Given the description of an element on the screen output the (x, y) to click on. 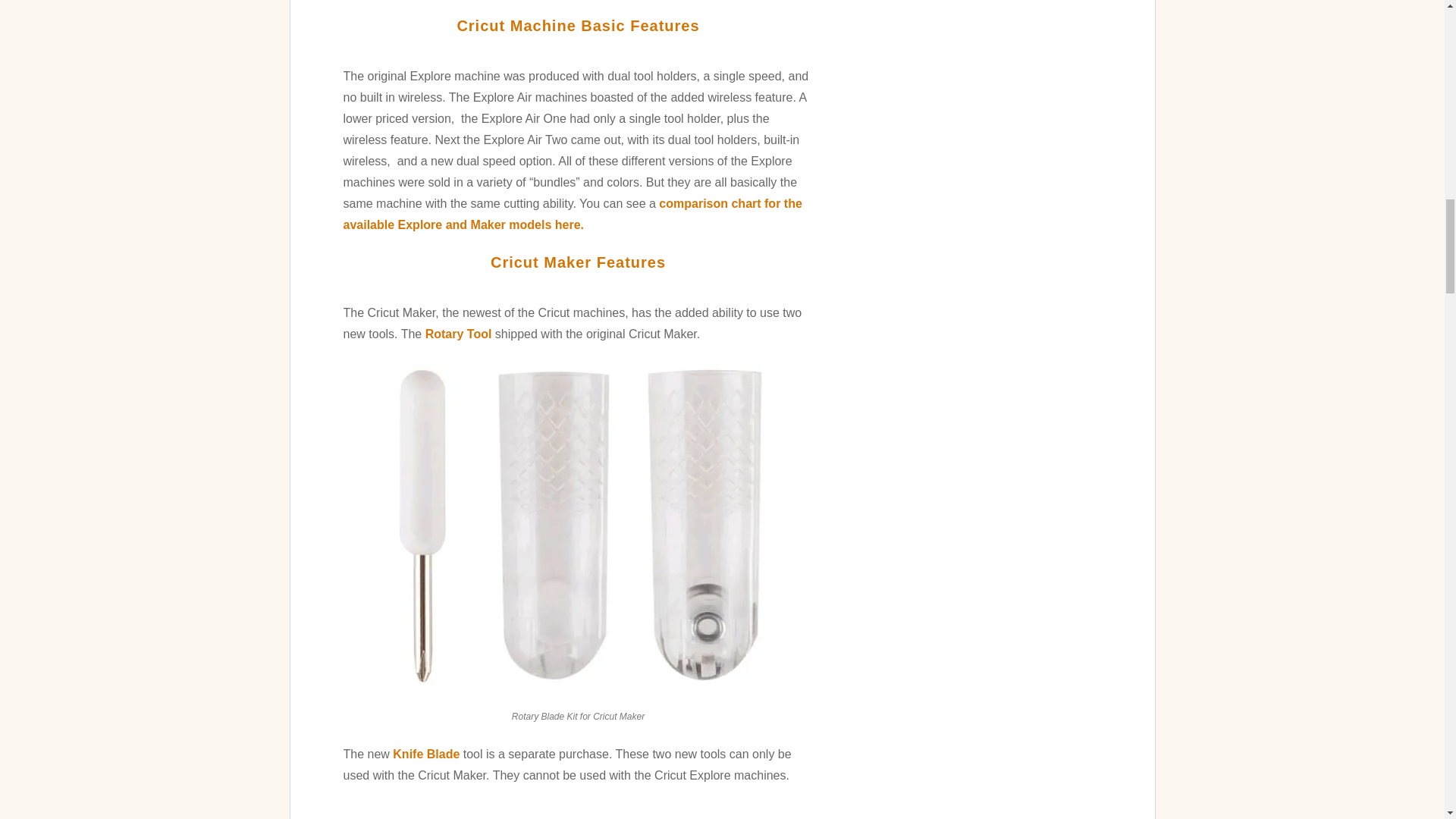
Rotary Tool (457, 333)
Knife Blade (426, 753)
